Given the description of an element on the screen output the (x, y) to click on. 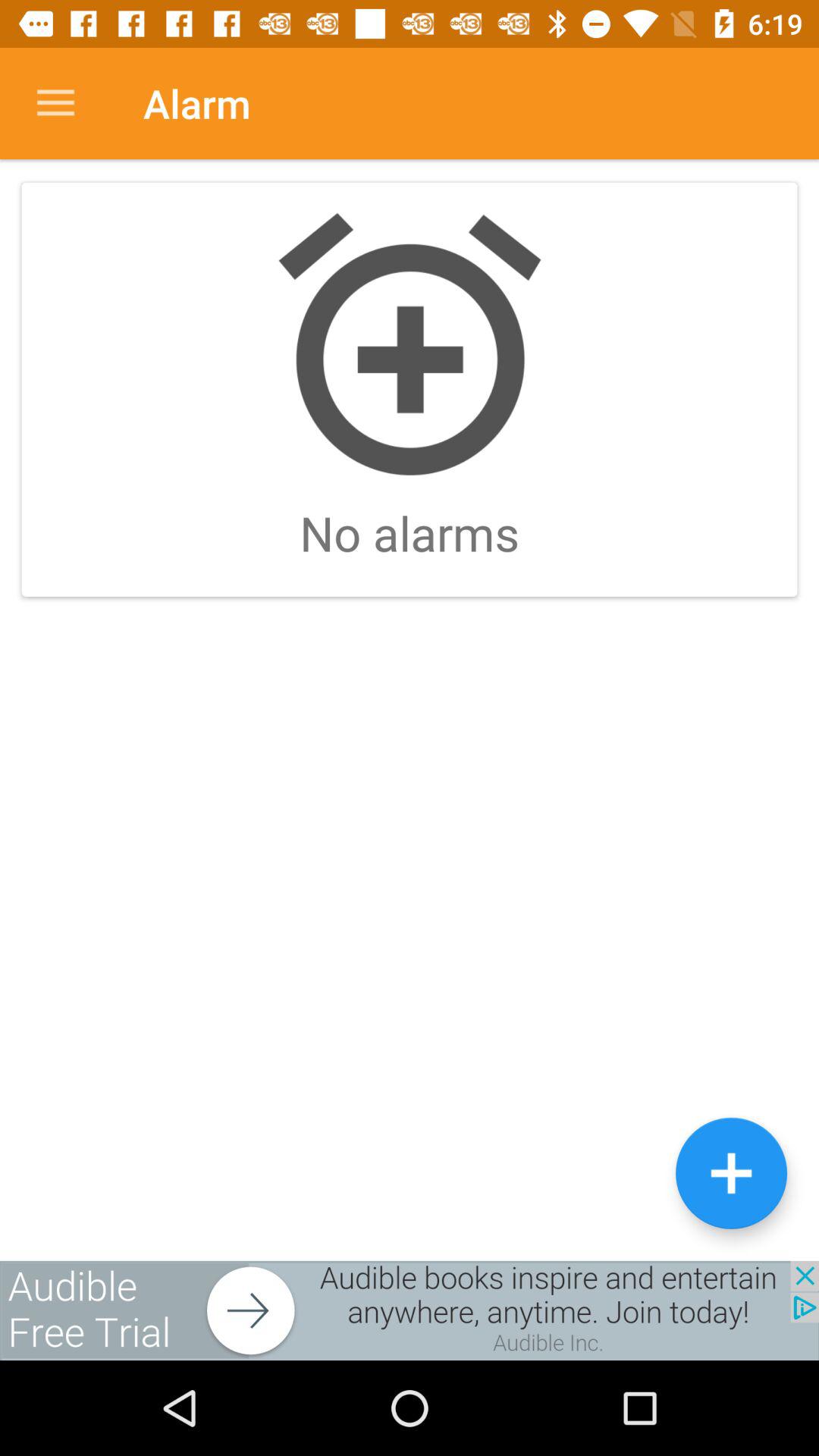
open advertisement (409, 1310)
